Given the description of an element on the screen output the (x, y) to click on. 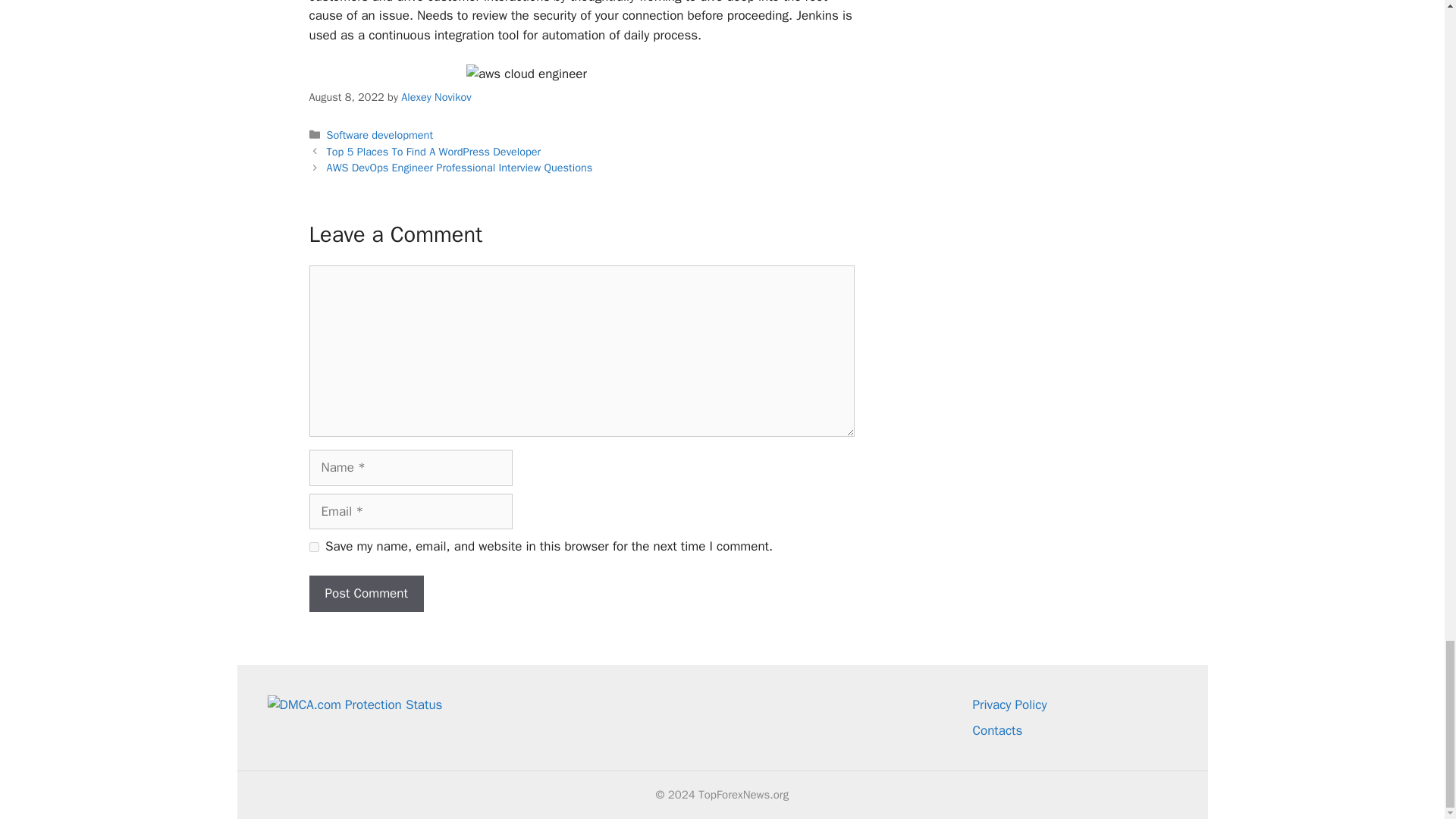
Top 5 Places To Find A WordPress Developer (433, 151)
AWS DevOps Engineer Professional Interview Questions (459, 167)
Next (459, 167)
Previous (433, 151)
Contacts (997, 730)
Alexey Novikov (435, 97)
Privacy Policy (1009, 704)
Post Comment (365, 593)
yes (313, 547)
View all posts by Alexey Novikov (435, 97)
